Given the description of an element on the screen output the (x, y) to click on. 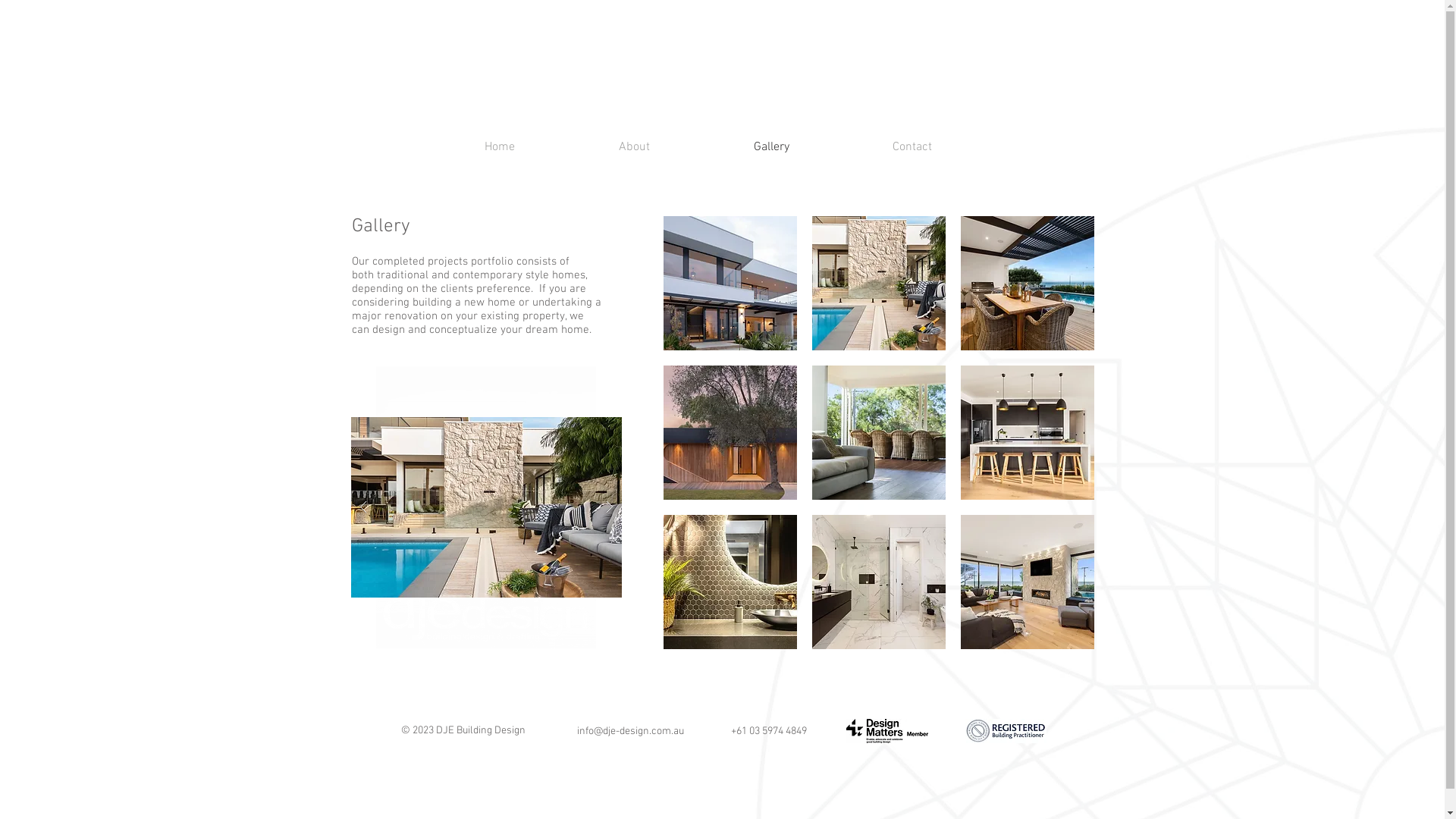
Home Element type: text (458, 147)
About Element type: text (593, 147)
Gallery Element type: text (730, 147)
info@dje-design.com.au Element type: text (629, 730)
Contact Element type: text (871, 147)
